Given the description of an element on the screen output the (x, y) to click on. 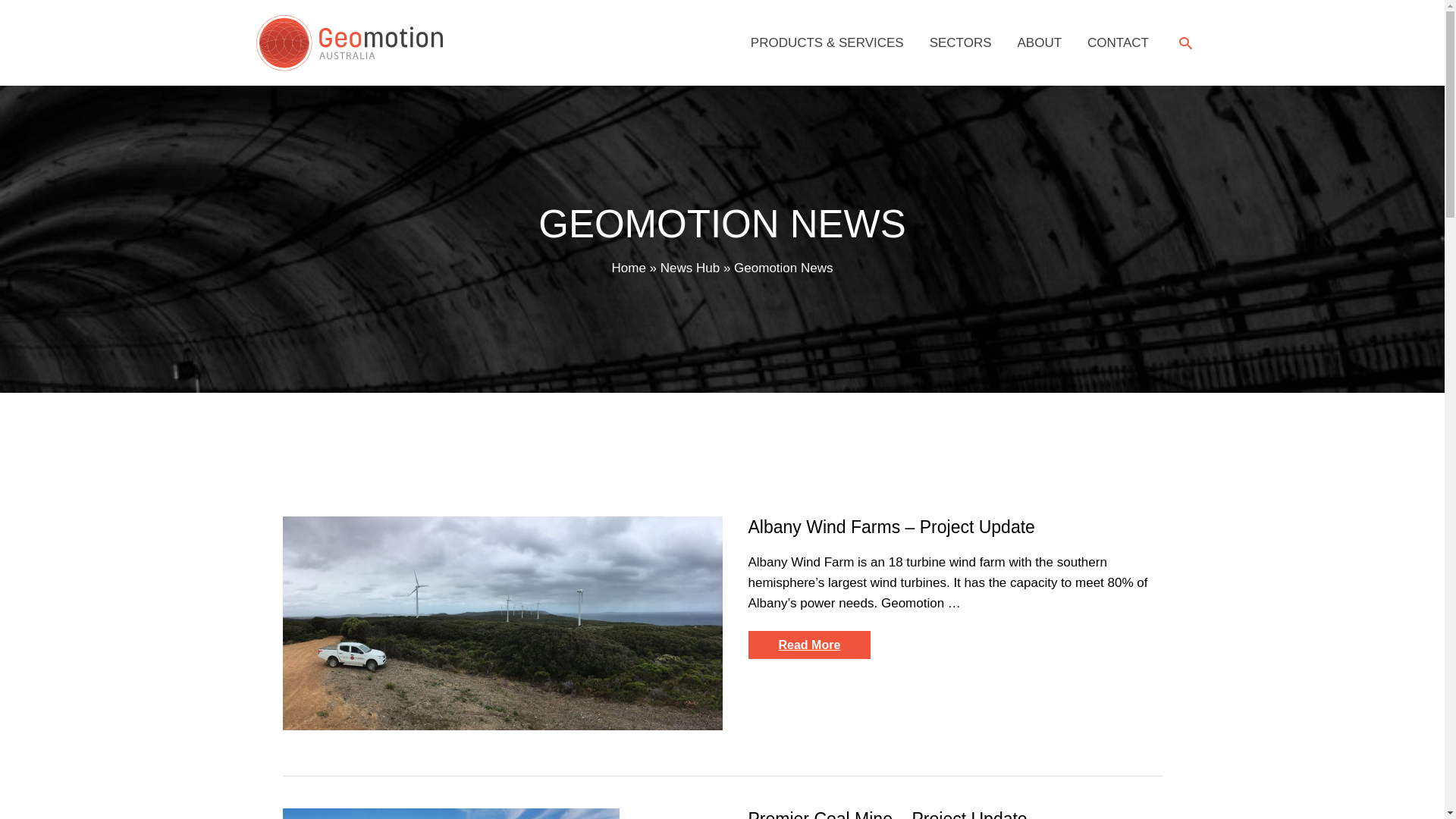
Search Element type: text (1185, 42)
News Hub Element type: text (689, 267)
SECTORS Element type: text (960, 43)
Home Element type: text (628, 267)
CONTACT Element type: text (1117, 43)
PRODUCTS & SERVICES Element type: text (826, 43)
ABOUT Element type: text (1039, 43)
